Given the description of an element on the screen output the (x, y) to click on. 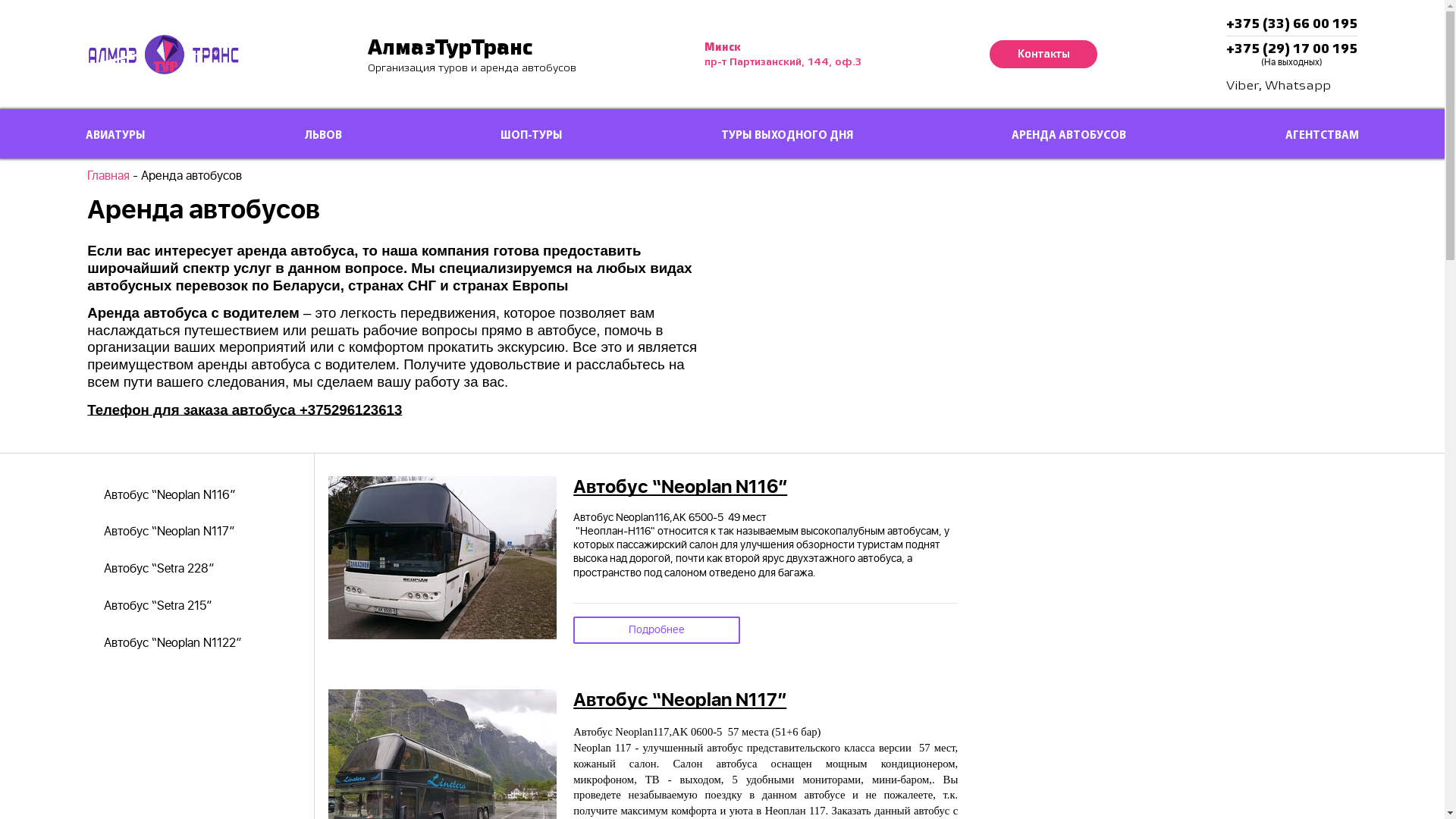
+375 (29) 17 00 195 Element type: text (1291, 48)
+375 (33) 66 00 195 Element type: text (1291, 23)
Whatsapp Element type: text (1297, 85)
Viber Element type: text (1242, 85)
